Given the description of an element on the screen output the (x, y) to click on. 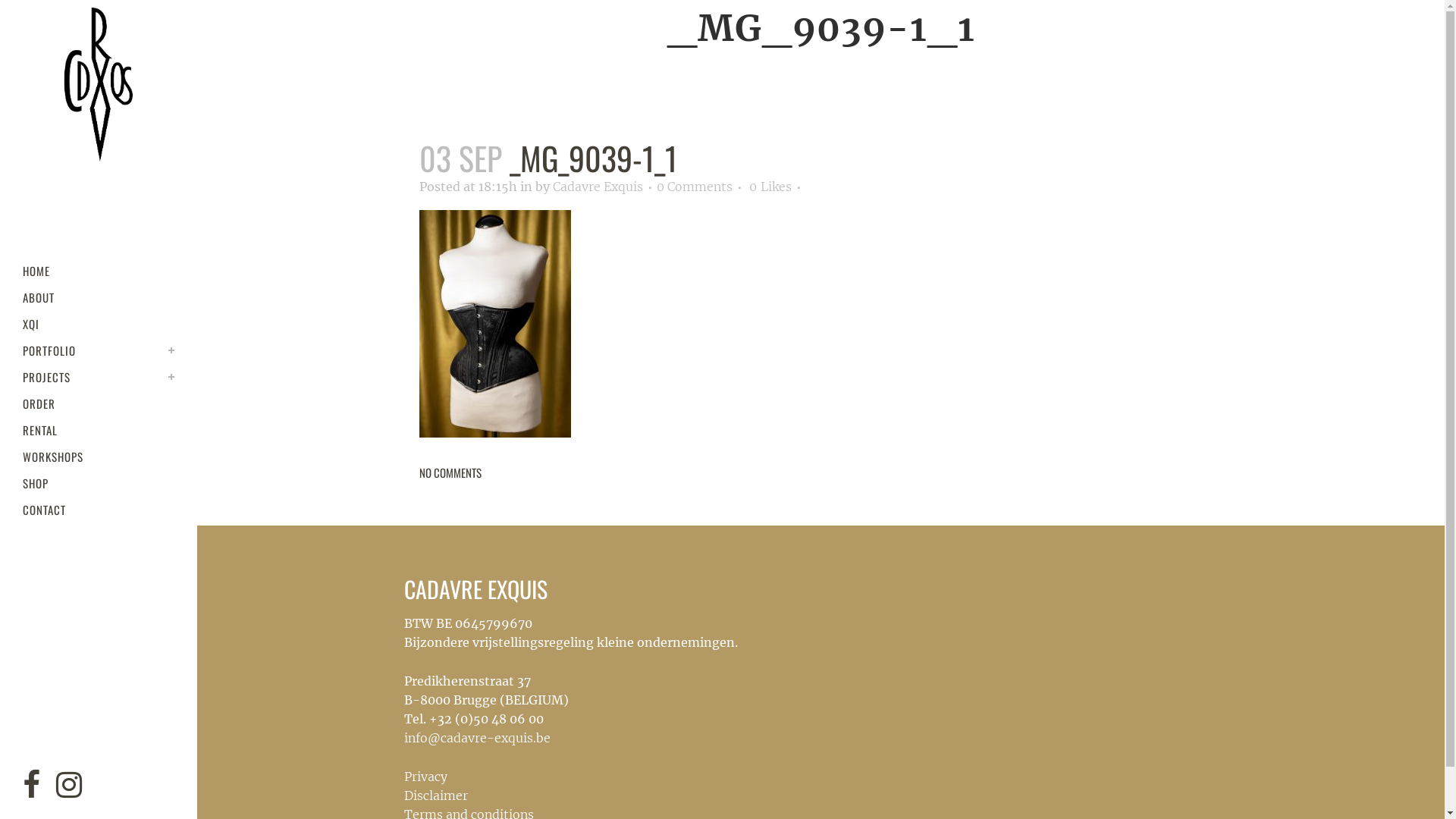
RENTAL Element type: text (98, 430)
info@cadavre-exquis.be Element type: text (476, 737)
PROJECTS Element type: text (98, 377)
Cadavre Exquis Element type: text (597, 186)
PORTFOLIO Element type: text (98, 350)
XQI Element type: text (98, 323)
0 Comments Element type: text (694, 186)
ORDER Element type: text (98, 403)
0 Likes Element type: text (770, 186)
HOME Element type: text (98, 270)
Disclaimer Element type: text (435, 795)
CONTACT Element type: text (98, 509)
ABOUT Element type: text (98, 297)
Privacy Element type: text (424, 776)
SHOP Element type: text (98, 483)
WORKSHOPS Element type: text (98, 456)
